Given the description of an element on the screen output the (x, y) to click on. 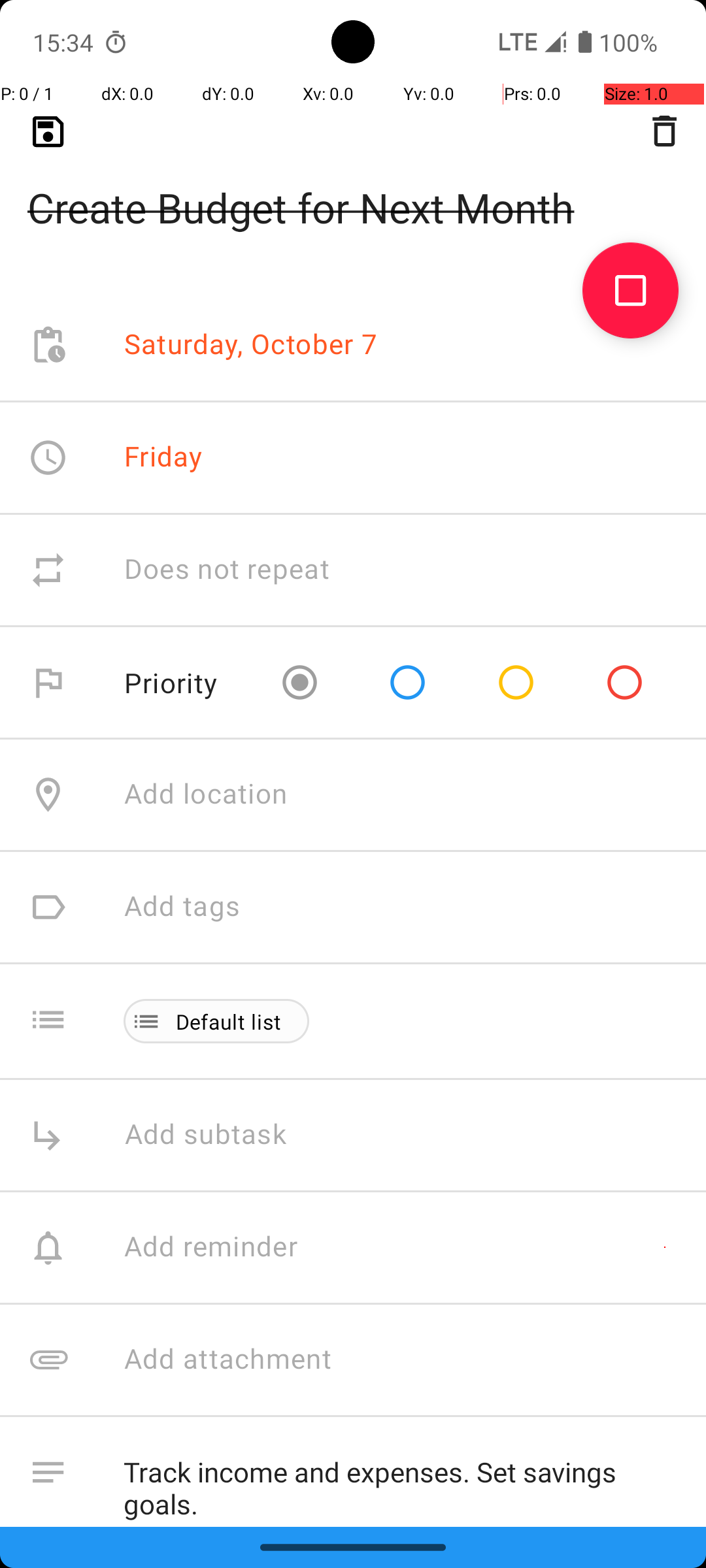
Saturday, October 7 Element type: android.widget.TextView (250, 344)
